Given the description of an element on the screen output the (x, y) to click on. 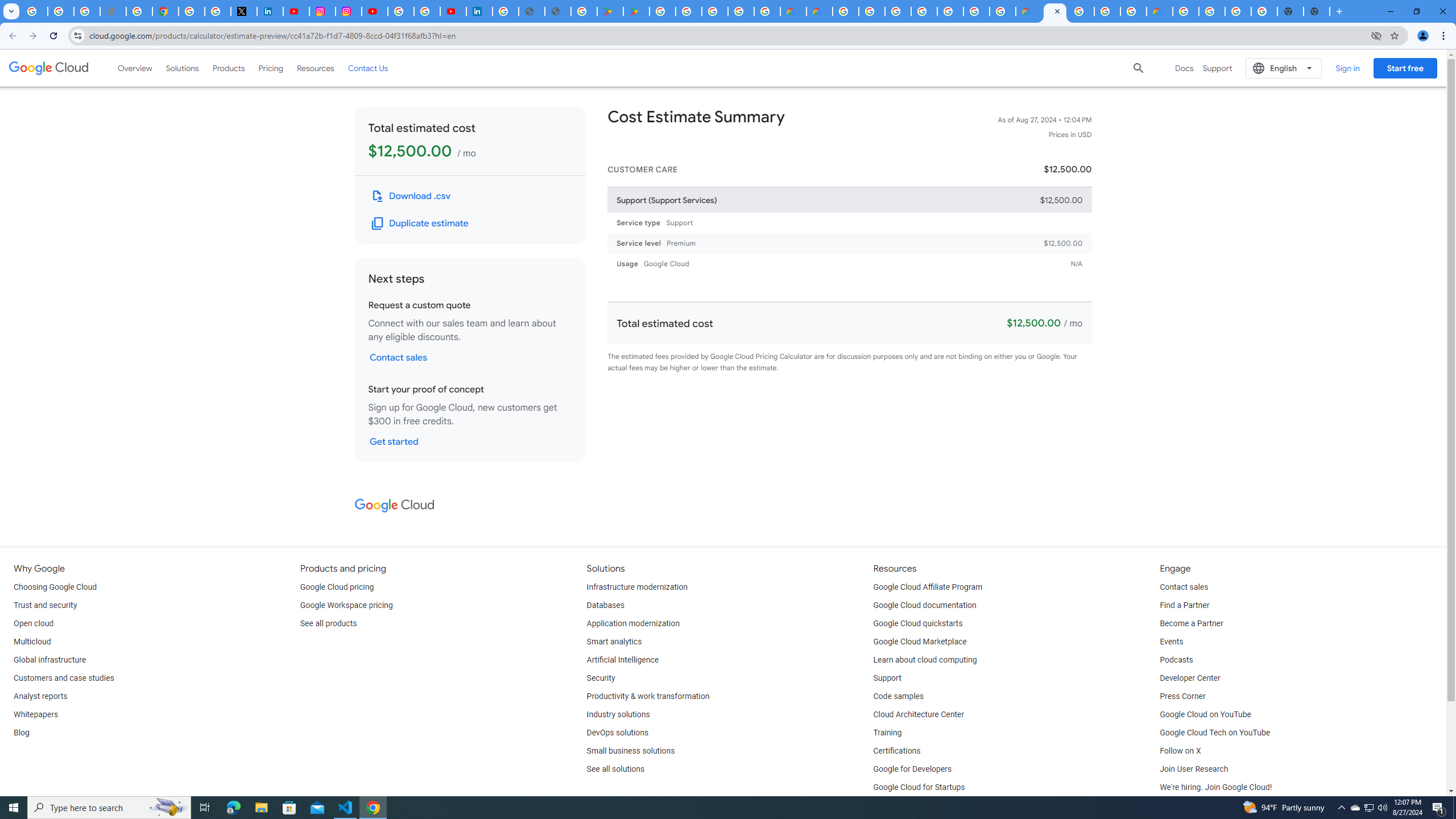
Sign in - Google Accounts (505, 11)
New Tab (1316, 11)
Browse Chrome as a guest - Computer - Google Chrome Help (1133, 11)
Google Cloud Platform (845, 11)
Customers and case studies (64, 678)
See all solutions (615, 769)
Choosing Google Cloud (55, 587)
Join User Research (1193, 769)
Whitepapers (35, 714)
Docs (1183, 67)
Duplicate this estimate (420, 223)
Google Cloud Platform (1185, 11)
